Given the description of an element on the screen output the (x, y) to click on. 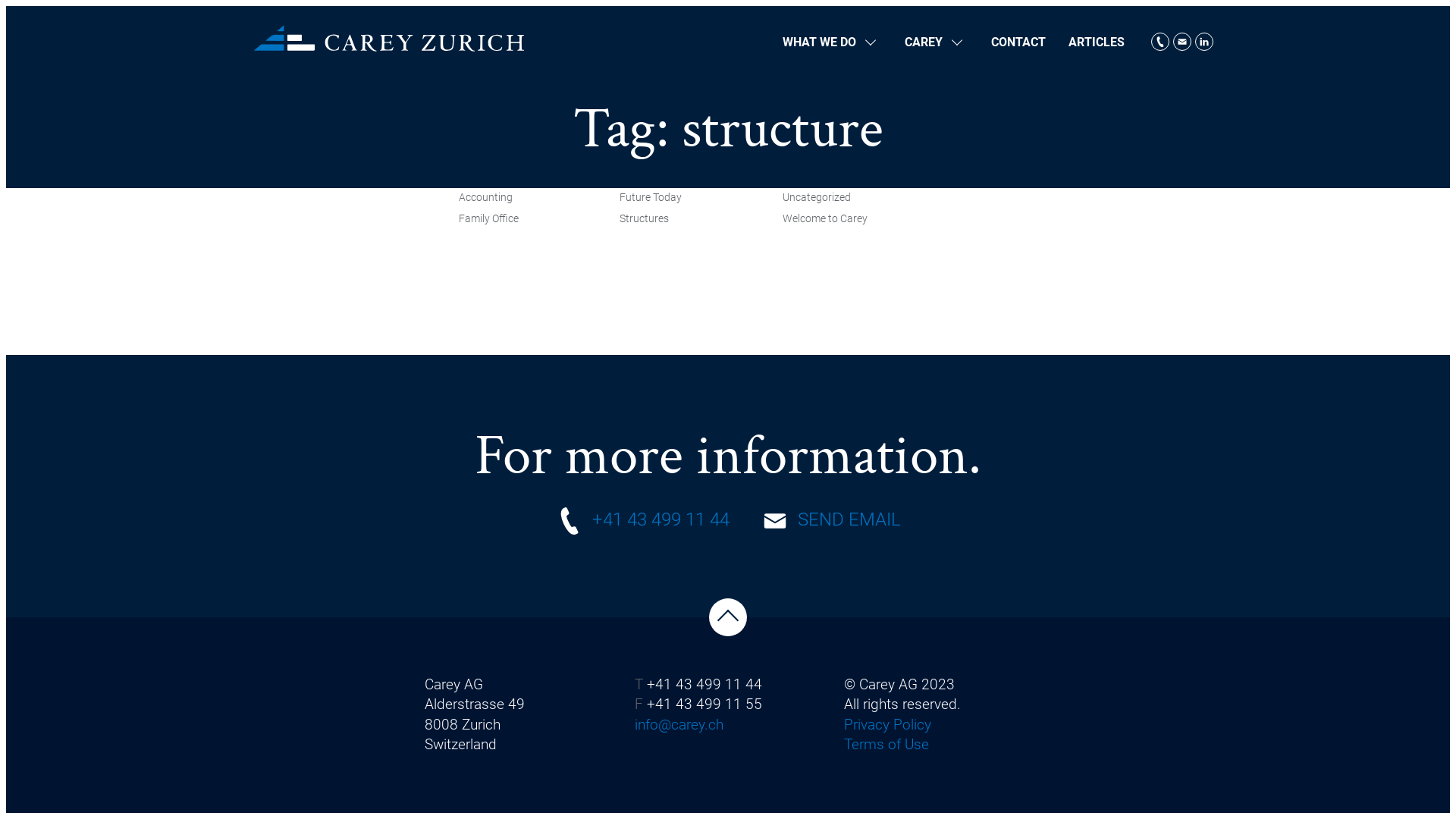
ARTICLES Element type: text (1096, 42)
Carey Zurich on linkedin Element type: hover (1204, 41)
Family Office Element type: text (488, 219)
Uncategorized Element type: text (824, 197)
WHAT WE DO Element type: text (832, 42)
Welcome to Carey Element type: text (824, 219)
  +41 43 499 11 44 Element type: text (641, 520)
CONTACT Element type: text (1018, 42)
Structures Element type: text (650, 219)
CAREY Element type: text (936, 42)
info@carey.ch Element type: text (678, 724)
Privacy Policy Element type: text (887, 724)
Carey Zurich Element type: text (389, 38)
Terms of Use Element type: text (886, 744)
Accounting Element type: text (488, 197)
Future Today Element type: text (650, 197)
  SEND EMAIL Element type: text (830, 520)
